Given the description of an element on the screen output the (x, y) to click on. 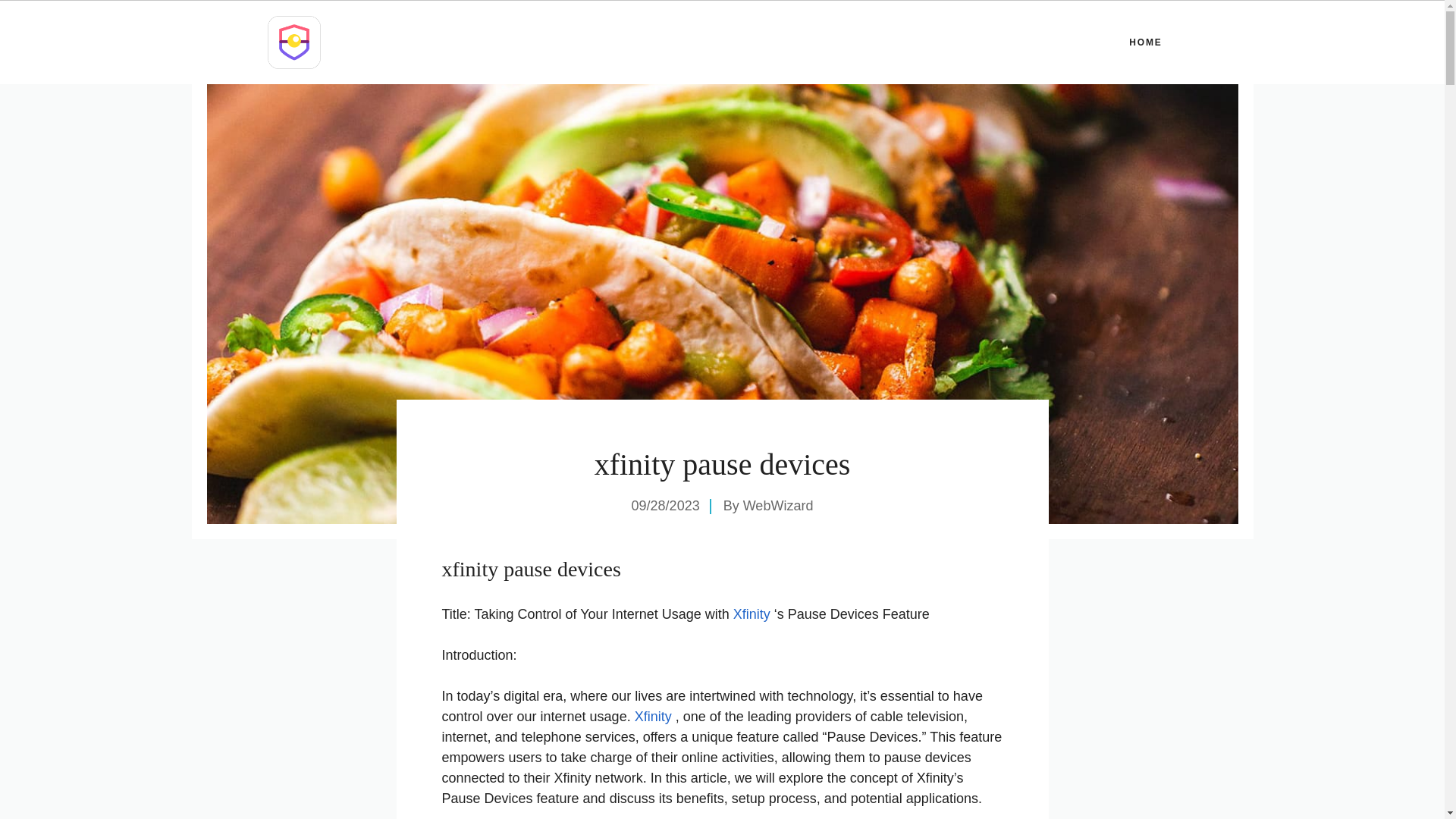
WebWizard (777, 505)
Xfinity (751, 613)
HOME (1144, 42)
Xfinity (650, 716)
